Given the description of an element on the screen output the (x, y) to click on. 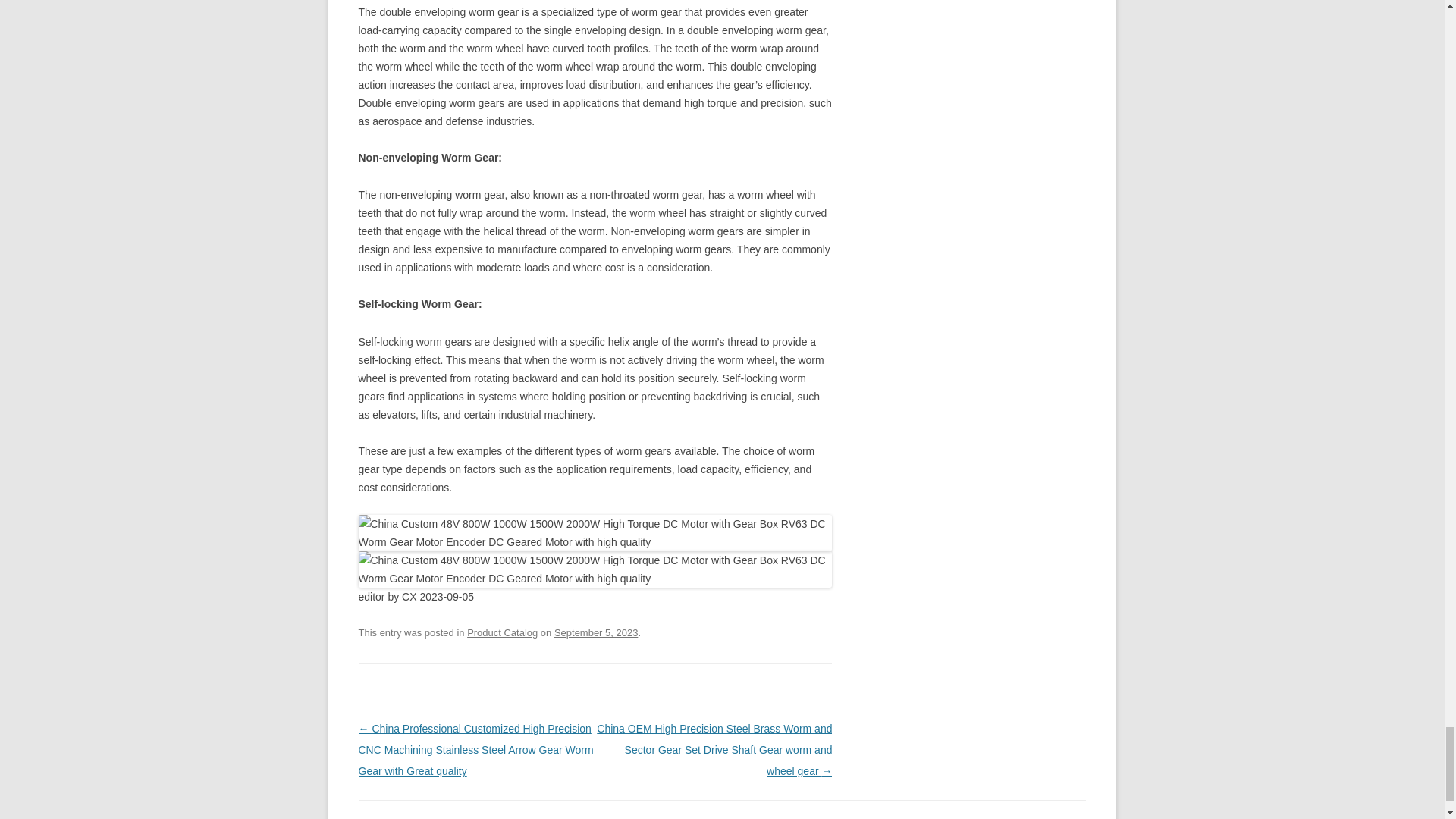
Product Catalog (502, 632)
September 5, 2023 (595, 632)
12:15 am (595, 632)
